Given the description of an element on the screen output the (x, y) to click on. 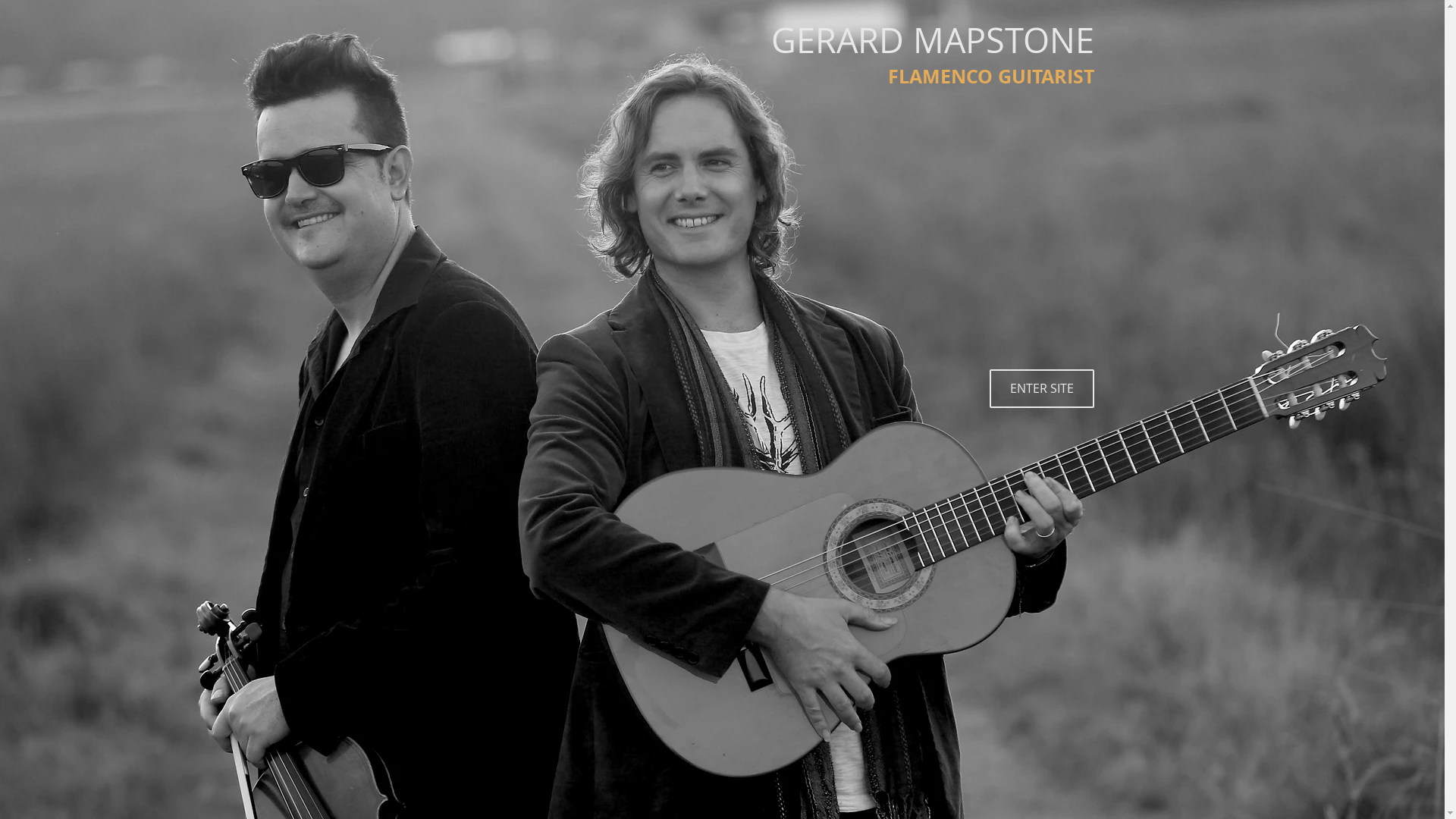
ENTER SITE Element type: text (1040, 388)
